Given the description of an element on the screen output the (x, y) to click on. 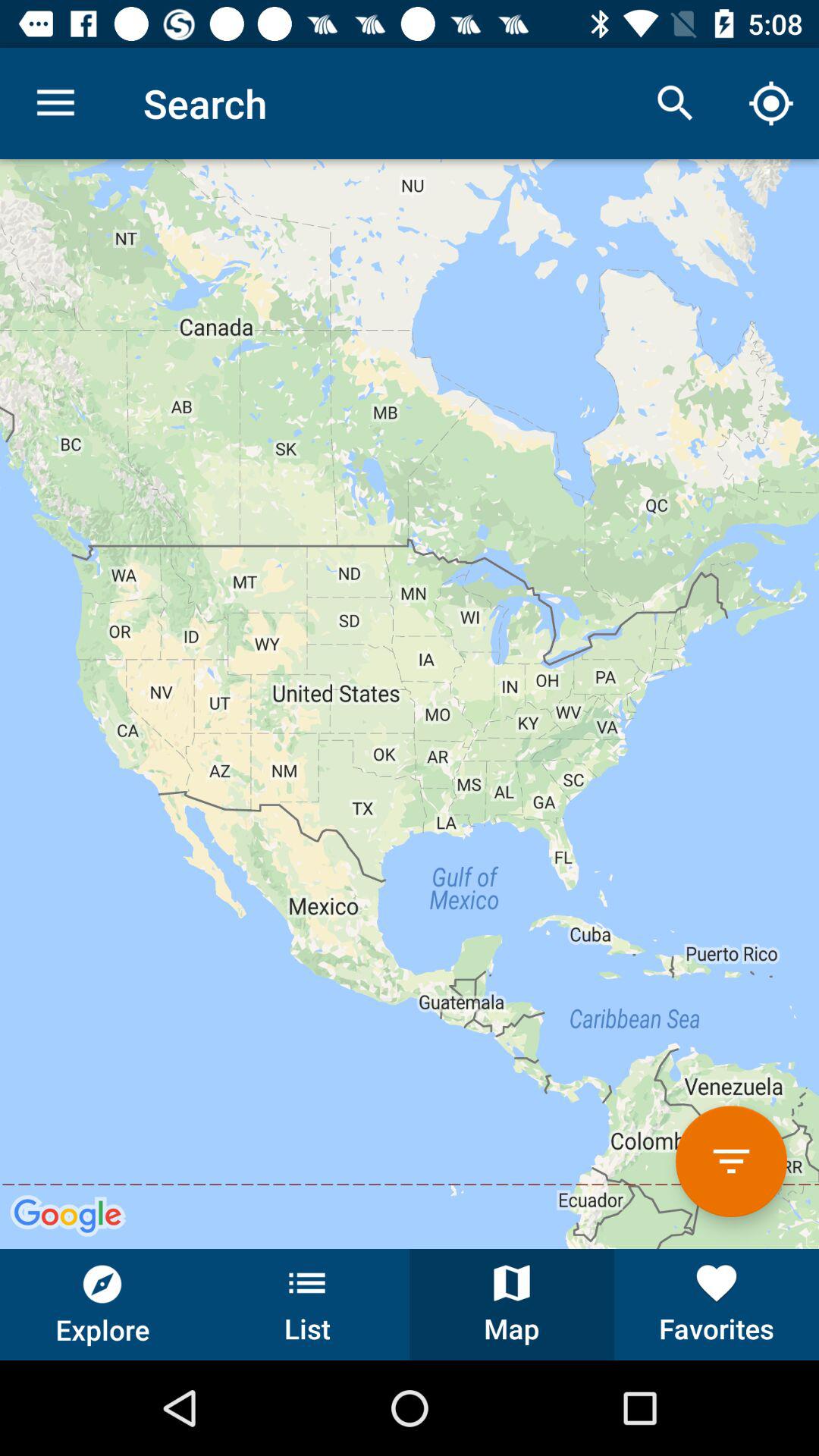
jump to explore (102, 1304)
